Given the description of an element on the screen output the (x, y) to click on. 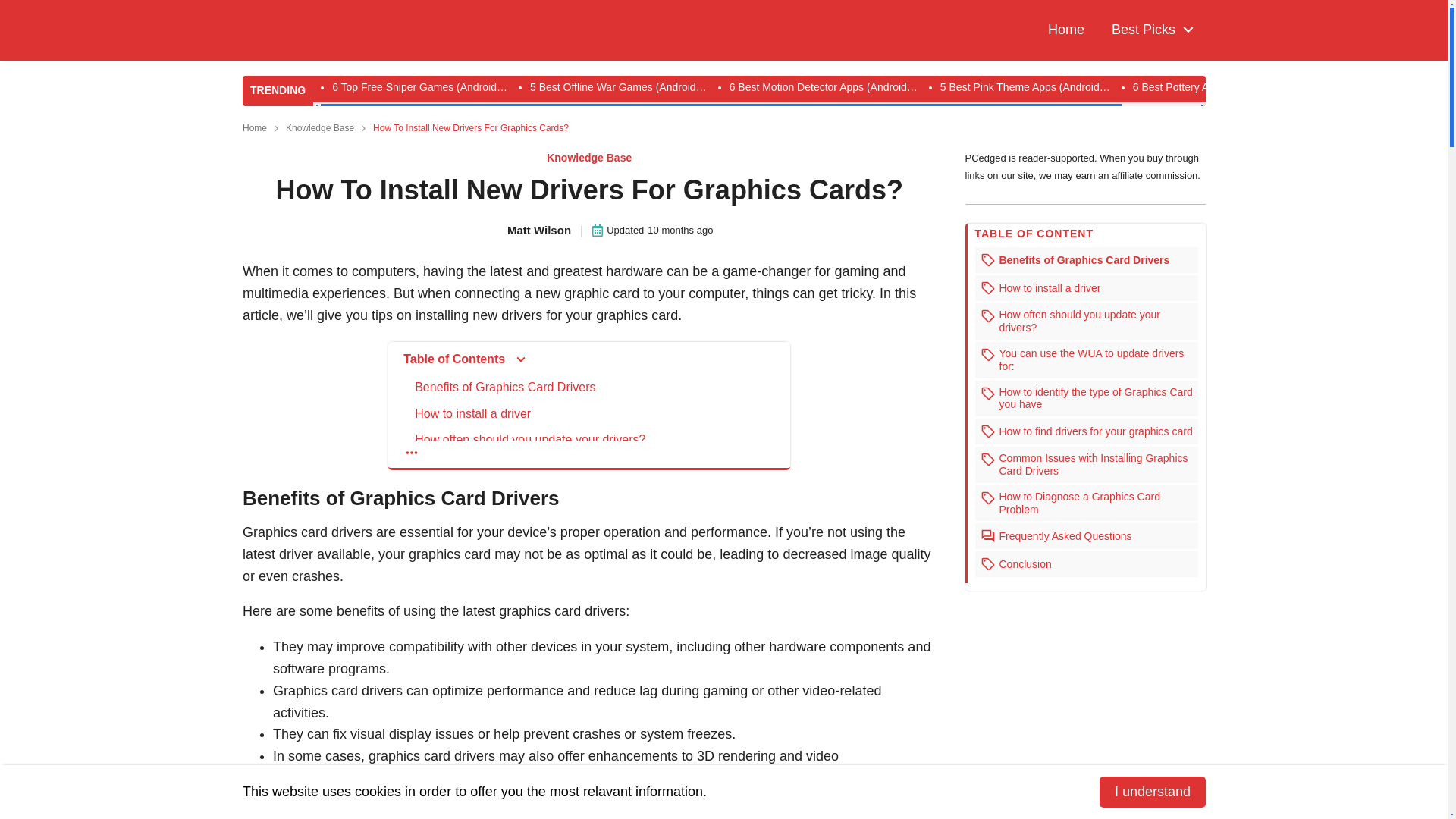
Home (1066, 29)
